Given the description of an element on the screen output the (x, y) to click on. 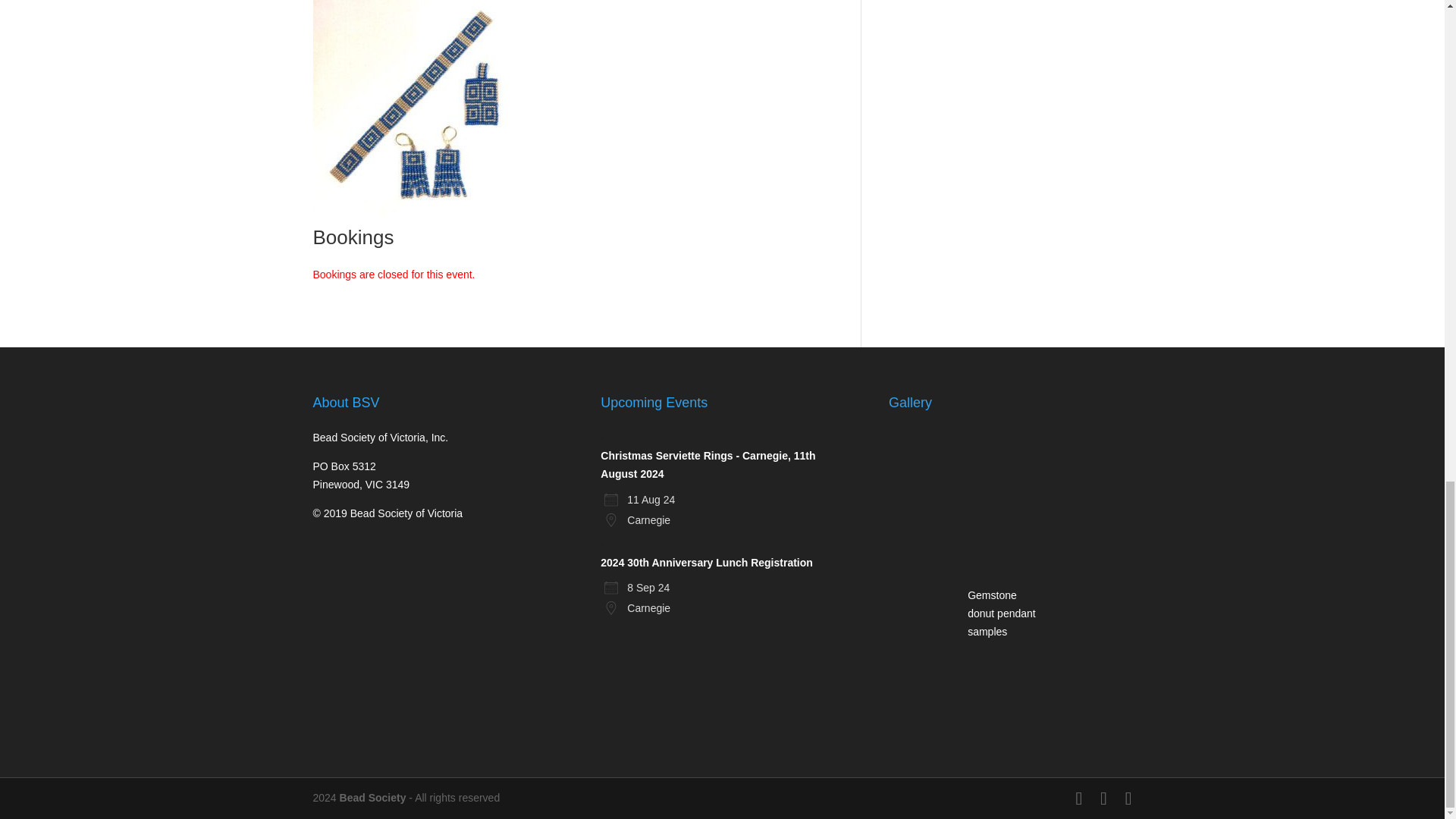
Bead Challenge 2023 Lynda Taylor 1 (924, 468)
Members Original Joanne Ivy, Aegean Sea, 1st Place (1082, 468)
2023Members Originals Nita Weller (1004, 680)
Bead Challenge Nita Weller first place public vote (1004, 468)
